Given the description of an element on the screen output the (x, y) to click on. 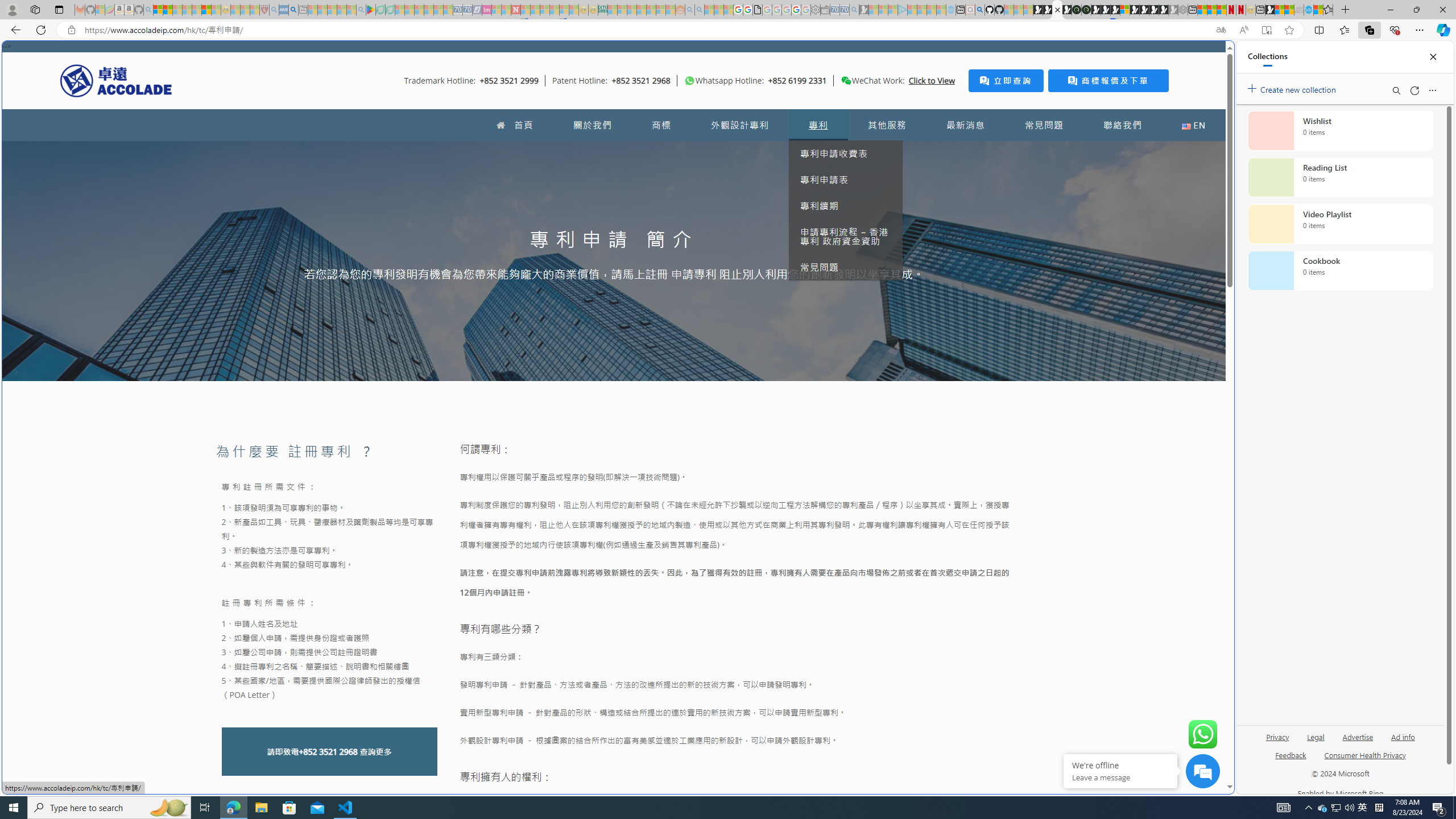
Close split screen (1208, 57)
